Given the description of an element on the screen output the (x, y) to click on. 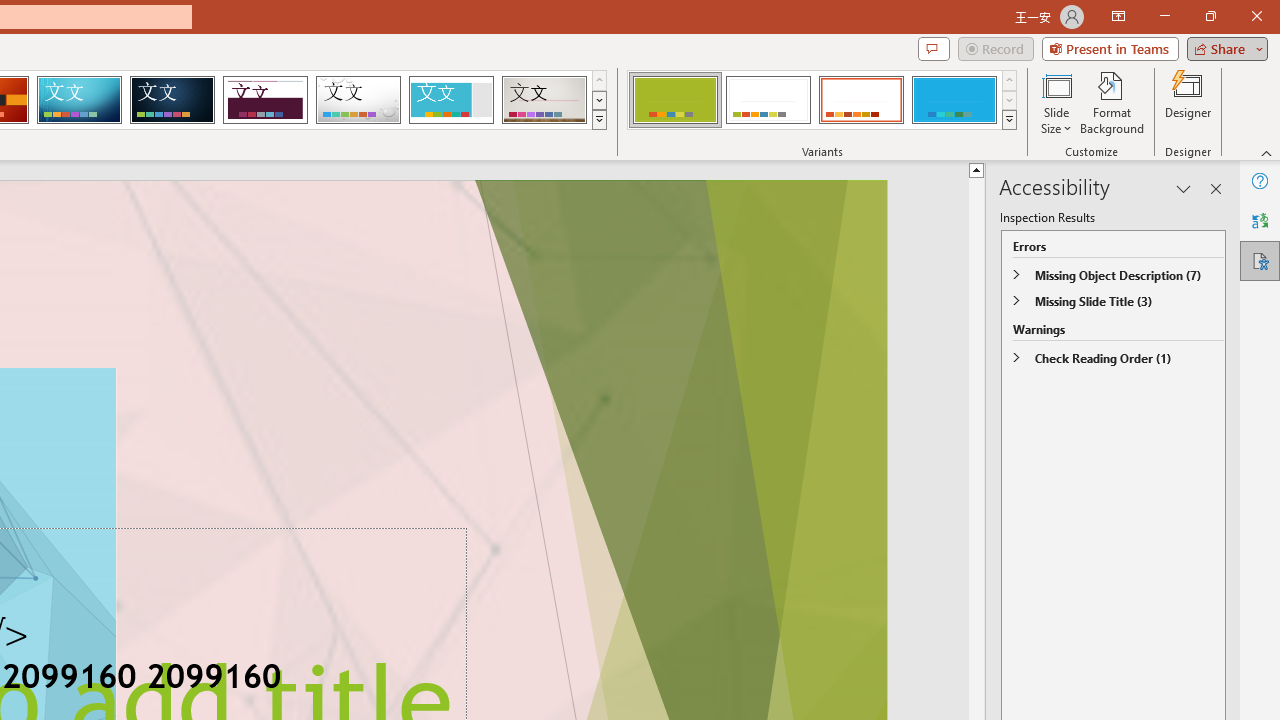
Frame (450, 100)
